Given the description of an element on the screen output the (x, y) to click on. 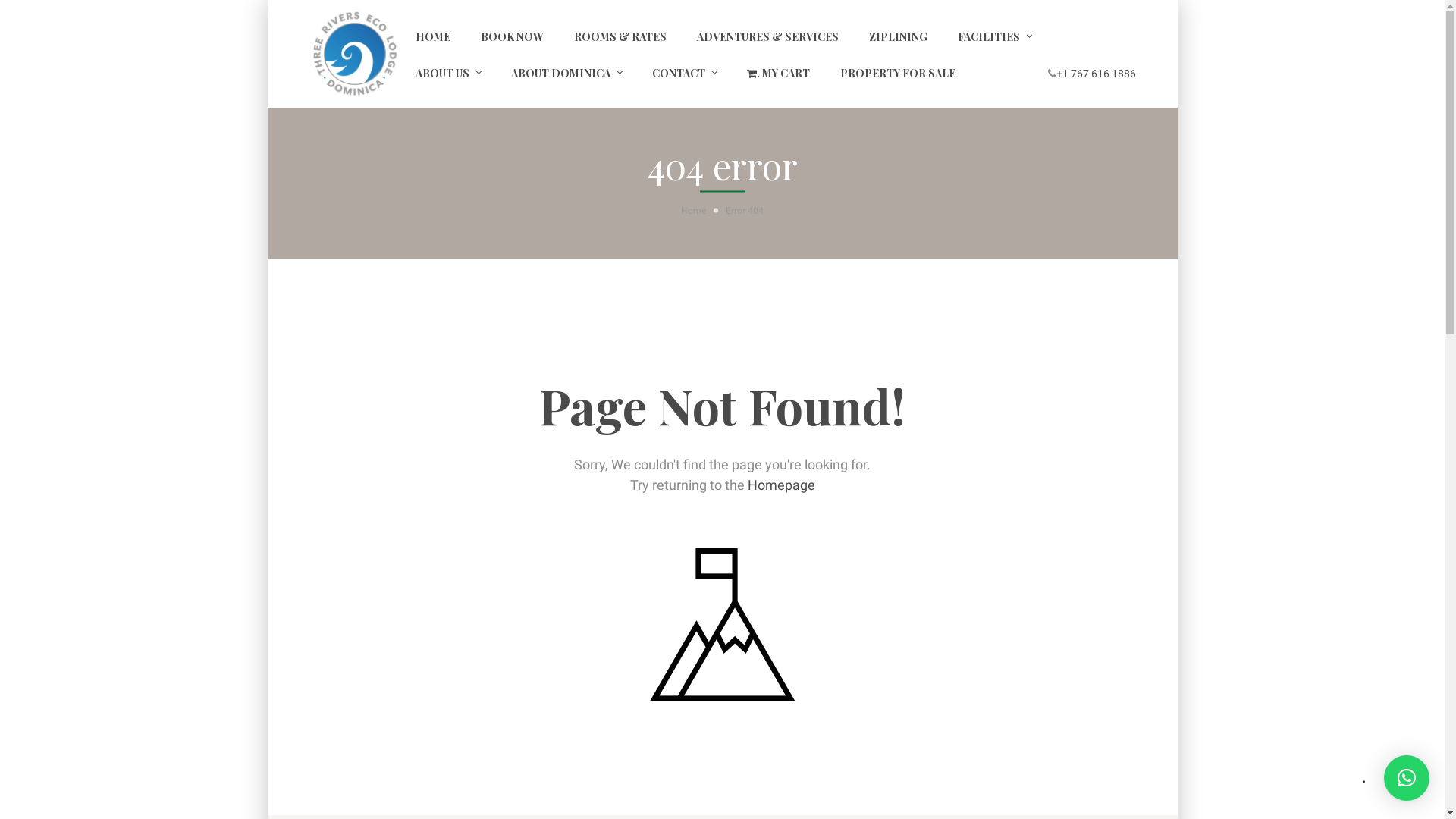
Homepage Element type: text (781, 484)
+1 767 616 1886 Element type: text (1095, 73)
CONTACT Element type: text (678, 71)
Home Element type: text (702, 210)
HOME Element type: text (432, 35)
ZIPLINING Element type: text (897, 35)
FACILITIES Element type: text (987, 35)
ADVENTURES & SERVICES Element type: text (766, 35)
BOOK NOW Element type: text (511, 35)
. MY CART Element type: text (777, 71)
ABOUT DOMINICA Element type: text (560, 71)
ROOMS & RATES Element type: text (619, 35)
PROPERTY FOR SALE Element type: text (897, 71)
. Element type: text (1406, 777)
ABOUT US Element type: text (442, 71)
